Given the description of an element on the screen output the (x, y) to click on. 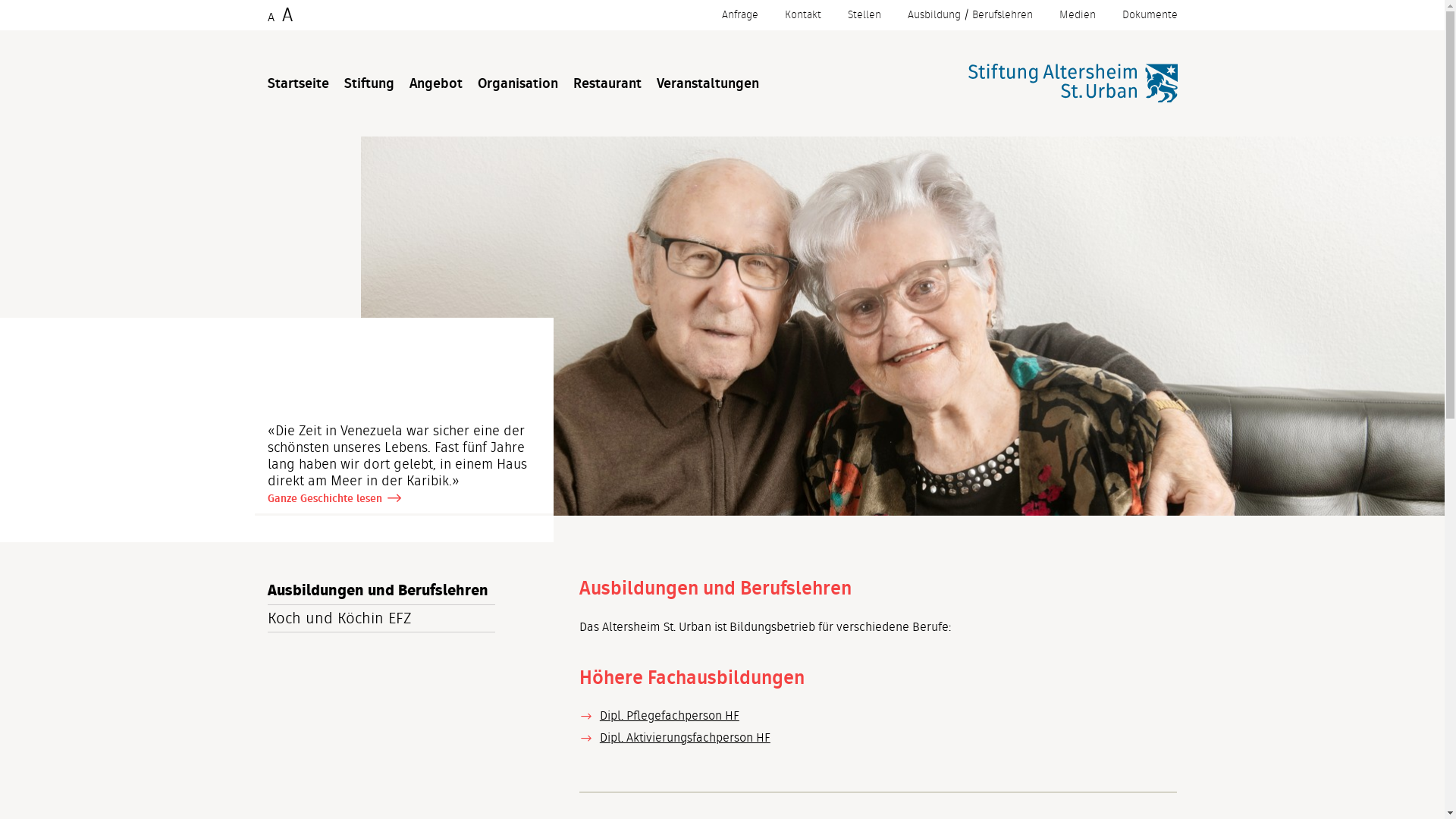
Medien Element type: text (1076, 14)
Veranstaltungen Element type: text (707, 84)
Ausbildungen und Berufslehren Element type: text (380, 590)
Dokumente Element type: text (1149, 14)
Startseite Element type: text (297, 84)
Ausbildung / Berufslehren Element type: text (969, 14)
Angebot Element type: text (435, 84)
Ganze Geschichte lesen Element type: text (325, 498)
Stiftung Element type: text (369, 84)
Organisation Element type: text (517, 84)
Anfrage Element type: text (739, 14)
Dipl. Aktivierungsfachperson HF Element type: text (684, 737)
Restaurant Element type: text (607, 84)
Stellen Element type: text (864, 14)
Dipl. Pflegefachperson HF Element type: text (669, 715)
Kontakt Element type: text (802, 14)
